Given the description of an element on the screen output the (x, y) to click on. 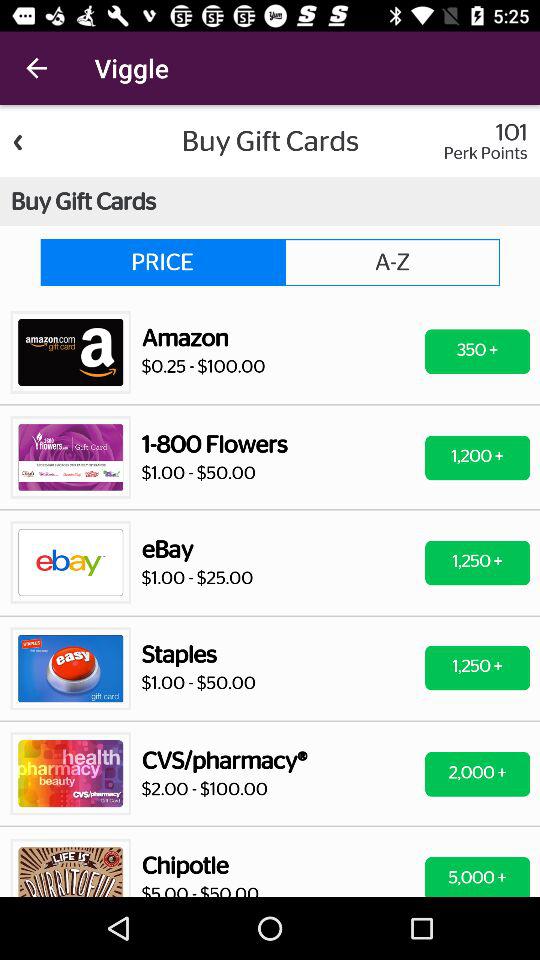
go to back (270, 501)
